Given the description of an element on the screen output the (x, y) to click on. 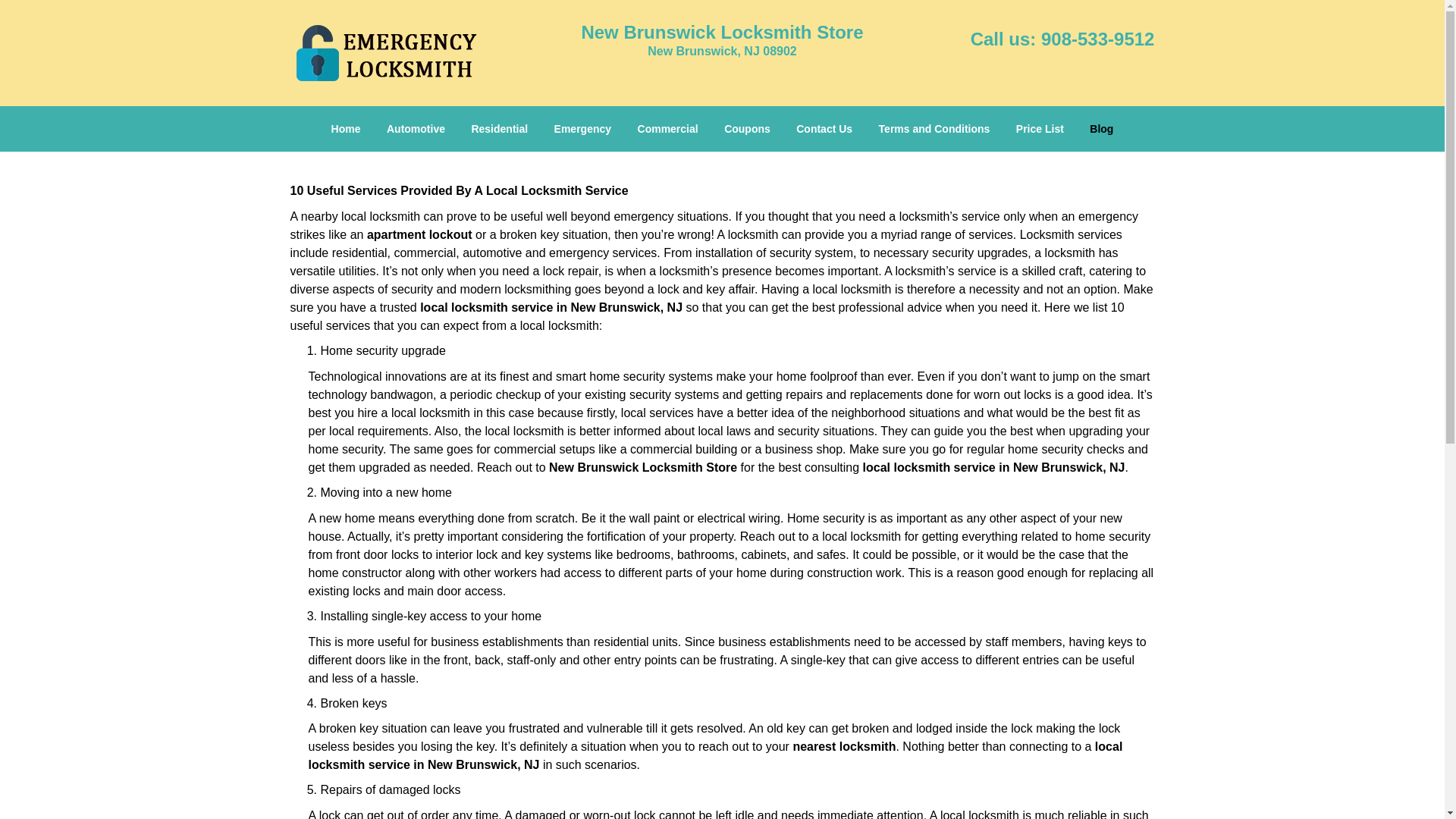
Home (346, 128)
Terms and Conditions (934, 128)
Coupons (747, 128)
908-533-9512 (1097, 38)
Commercial (668, 128)
Residential (499, 128)
Automotive (416, 128)
Emergency (583, 128)
Price List (1039, 128)
Contact Us (823, 128)
Blog (1101, 128)
